Given the description of an element on the screen output the (x, y) to click on. 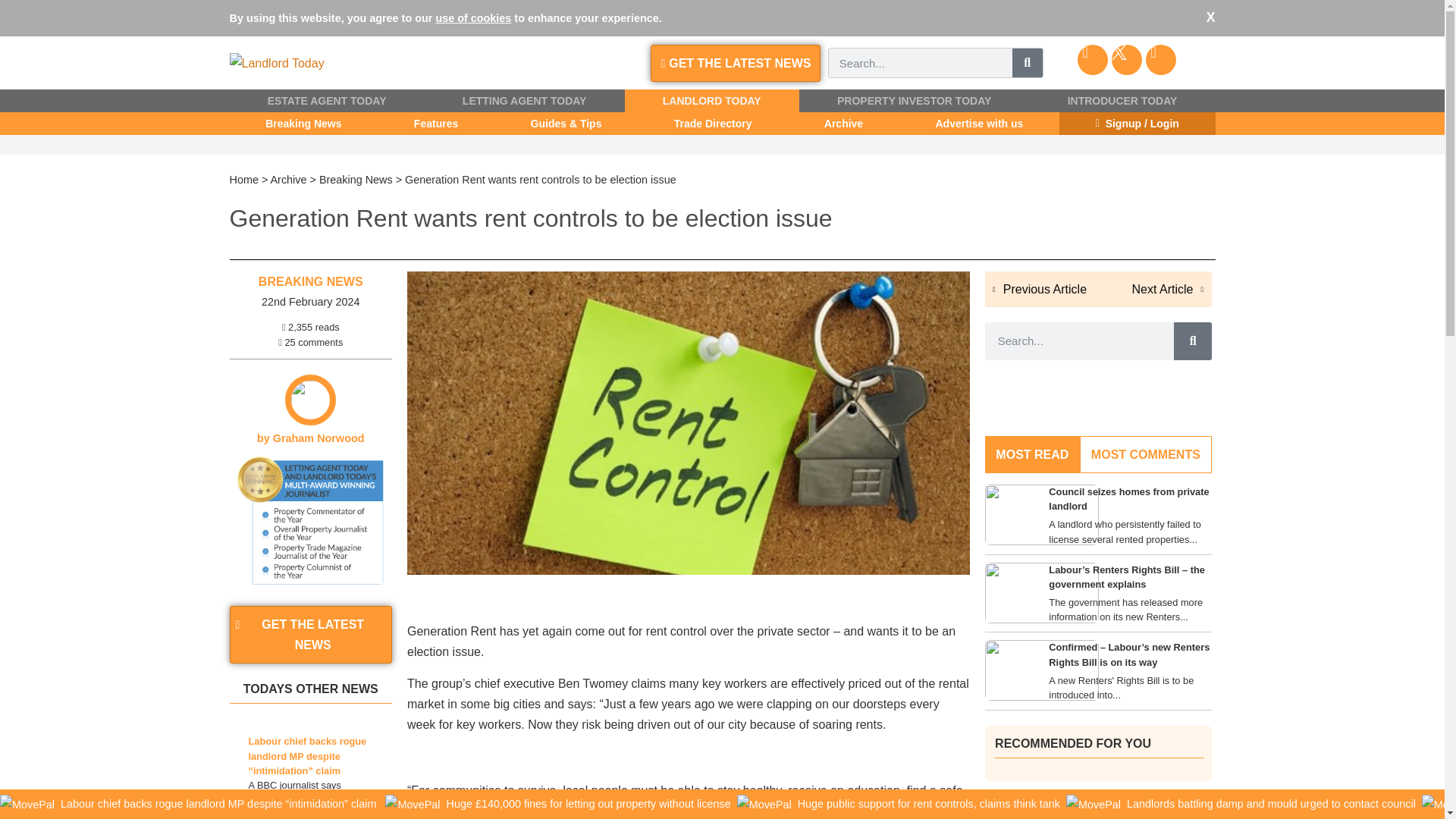
use of cookies (473, 18)
ESTATE AGENT TODAY (325, 100)
Breaking News (302, 123)
INTRODUCER TODAY (1121, 100)
PROPERTY INVESTOR TODAY (914, 100)
LANDLORD TODAY (711, 100)
LETTING AGENT TODAY (524, 100)
GET THE LATEST NEWS (735, 63)
Features (436, 123)
landlord-today-logo (275, 63)
